Given the description of an element on the screen output the (x, y) to click on. 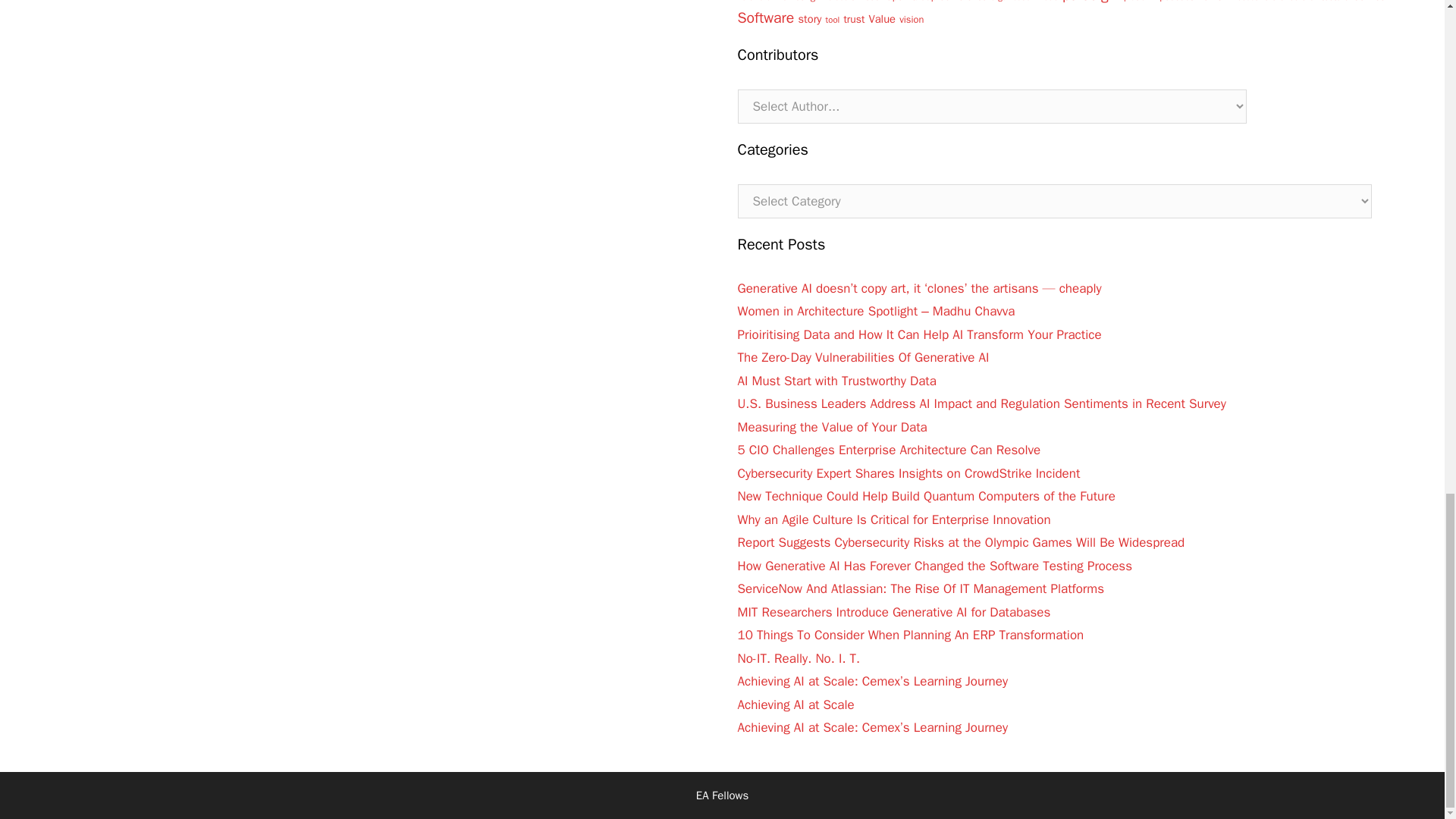
Scroll back to top (1406, 281)
